Given the description of an element on the screen output the (x, y) to click on. 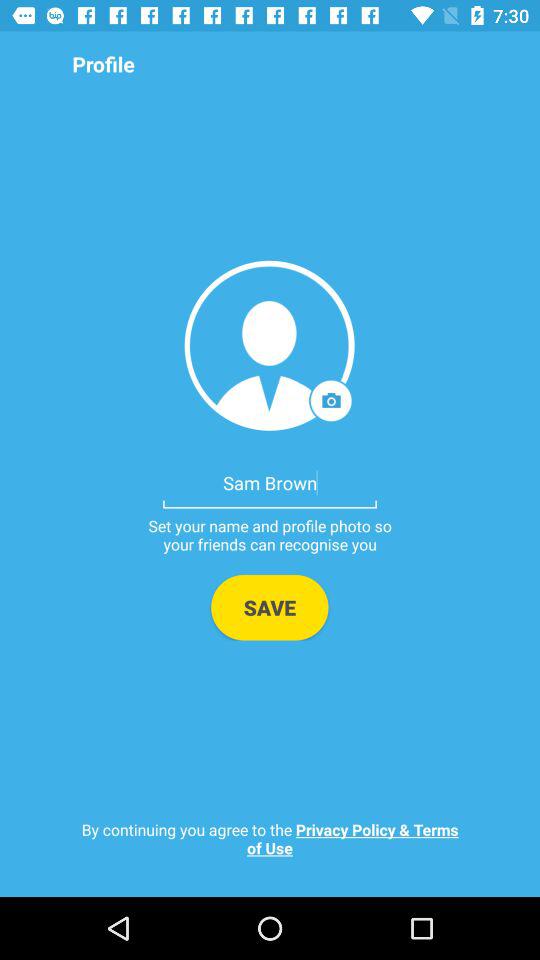
jump until sam brown (269, 482)
